Given the description of an element on the screen output the (x, y) to click on. 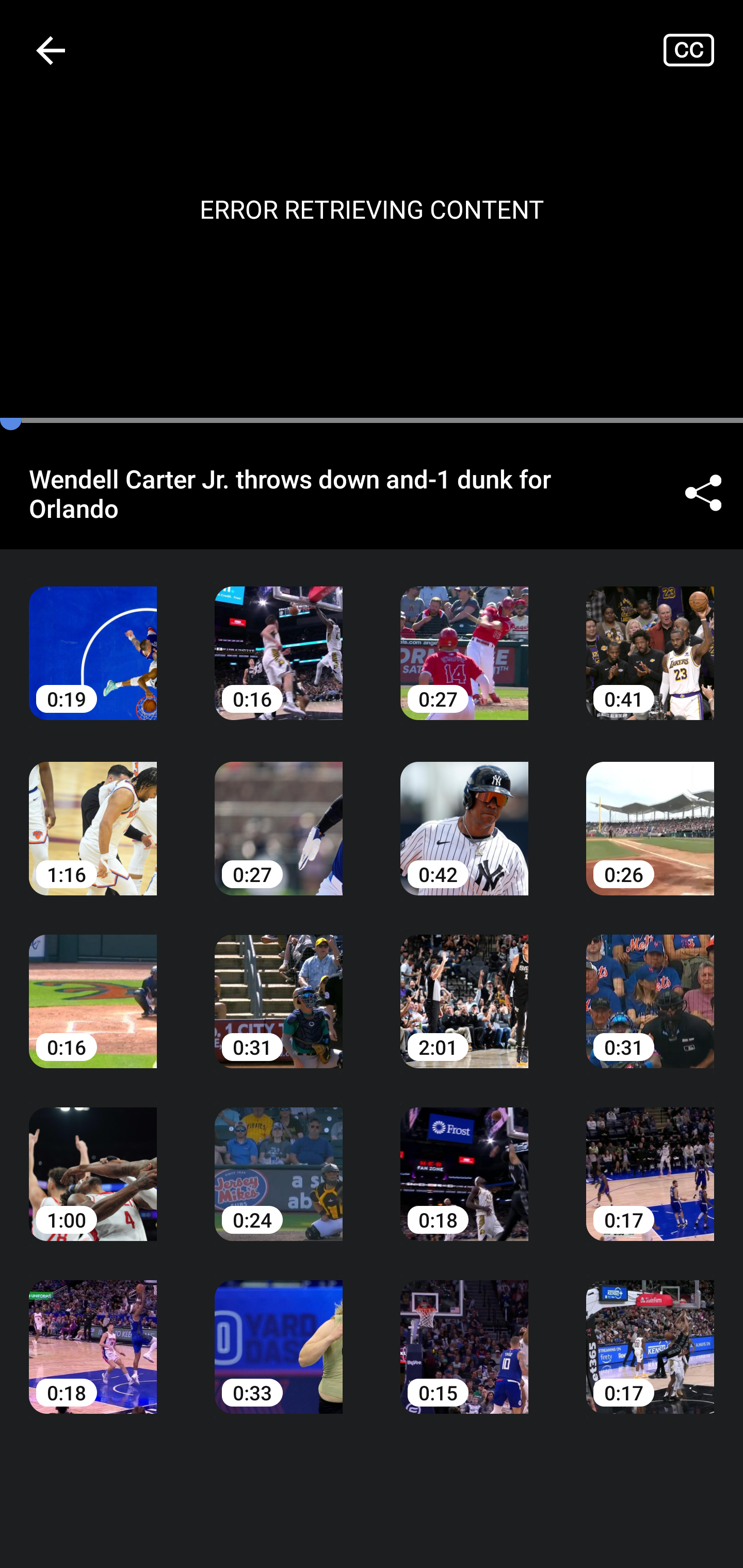
Navigate up (50, 50)
Closed captions  (703, 49)
Share © (703, 493)
0:19 (92, 637)
0:16 (278, 637)
0:27 (464, 637)
0:41 (650, 637)
1:16 (92, 813)
0:27 (278, 813)
0:42 (464, 813)
0:26 (650, 813)
0:16 (92, 987)
0:31 (278, 987)
2:01 (464, 987)
0:31 (650, 987)
1:00 (92, 1160)
0:24 (278, 1160)
0:18 (464, 1160)
0:17 (650, 1160)
0:18 (92, 1332)
0:33 (278, 1332)
0:15 (464, 1332)
0:17 (650, 1332)
